Given the description of an element on the screen output the (x, y) to click on. 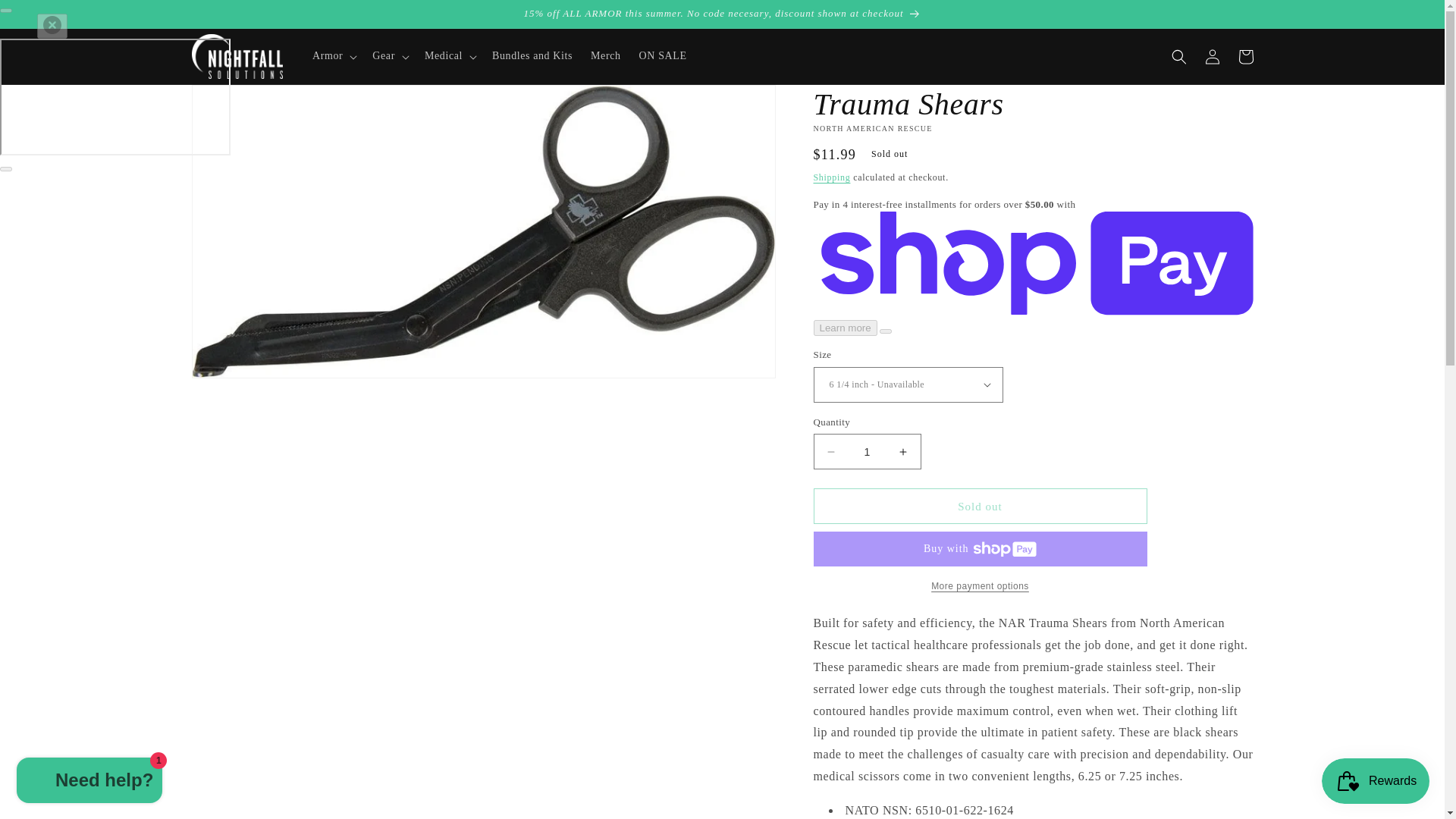
Shopify online store chat (89, 781)
Smile.io Rewards Program Launcher (1375, 780)
1 (866, 451)
Skip to content (45, 17)
